Given the description of an element on the screen output the (x, y) to click on. 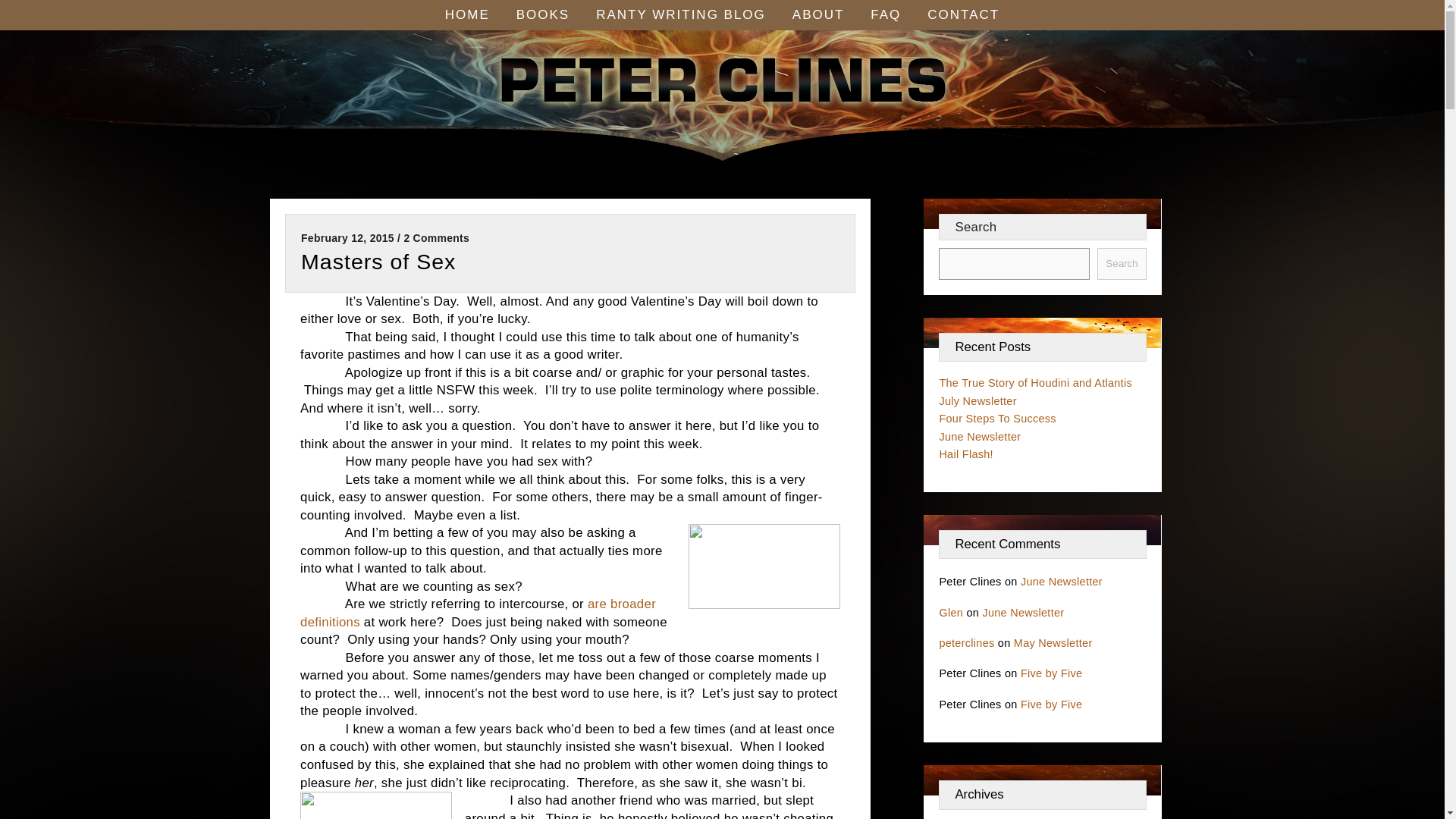
Search (1121, 264)
Glen (950, 612)
Masters of Sex (378, 261)
RANTY WRITING BLOG (681, 15)
The True Story of Houdini and Atlantis (1035, 382)
Hail Flash! (965, 453)
July Newsletter (977, 400)
FAQ (884, 15)
CONTACT (962, 15)
June Newsletter (979, 436)
BOOKS (542, 15)
HOME (467, 15)
Four Steps To Success (998, 418)
are broader definitions (477, 613)
June Newsletter (1061, 581)
